Given the description of an element on the screen output the (x, y) to click on. 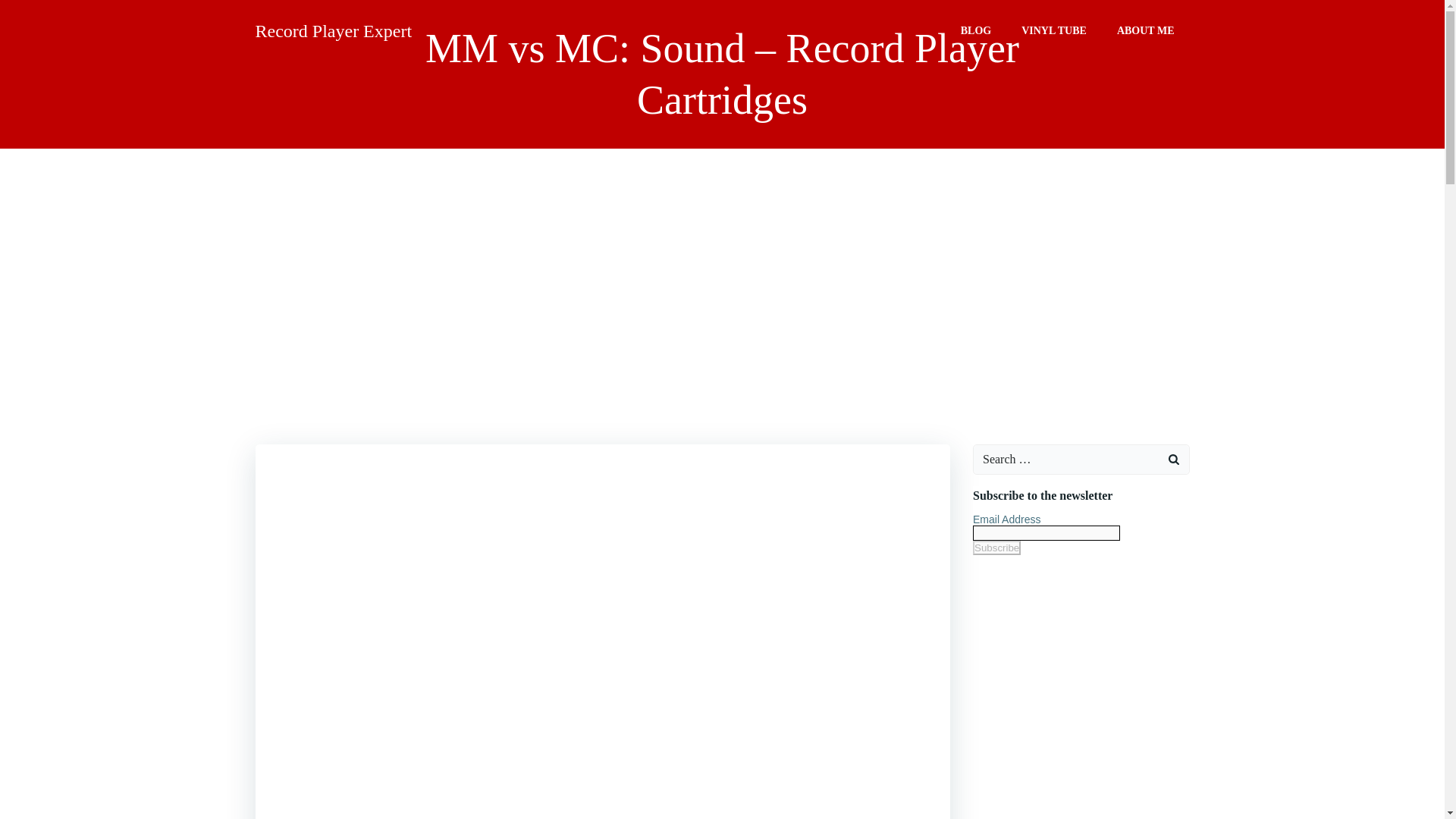
VINYL TUBE (1054, 30)
Subscribe (996, 547)
BLOG (975, 30)
Search  (29, 14)
Subscribe (996, 547)
Record Player Expert (333, 30)
ABOUT ME (1145, 30)
